Given the description of an element on the screen output the (x, y) to click on. 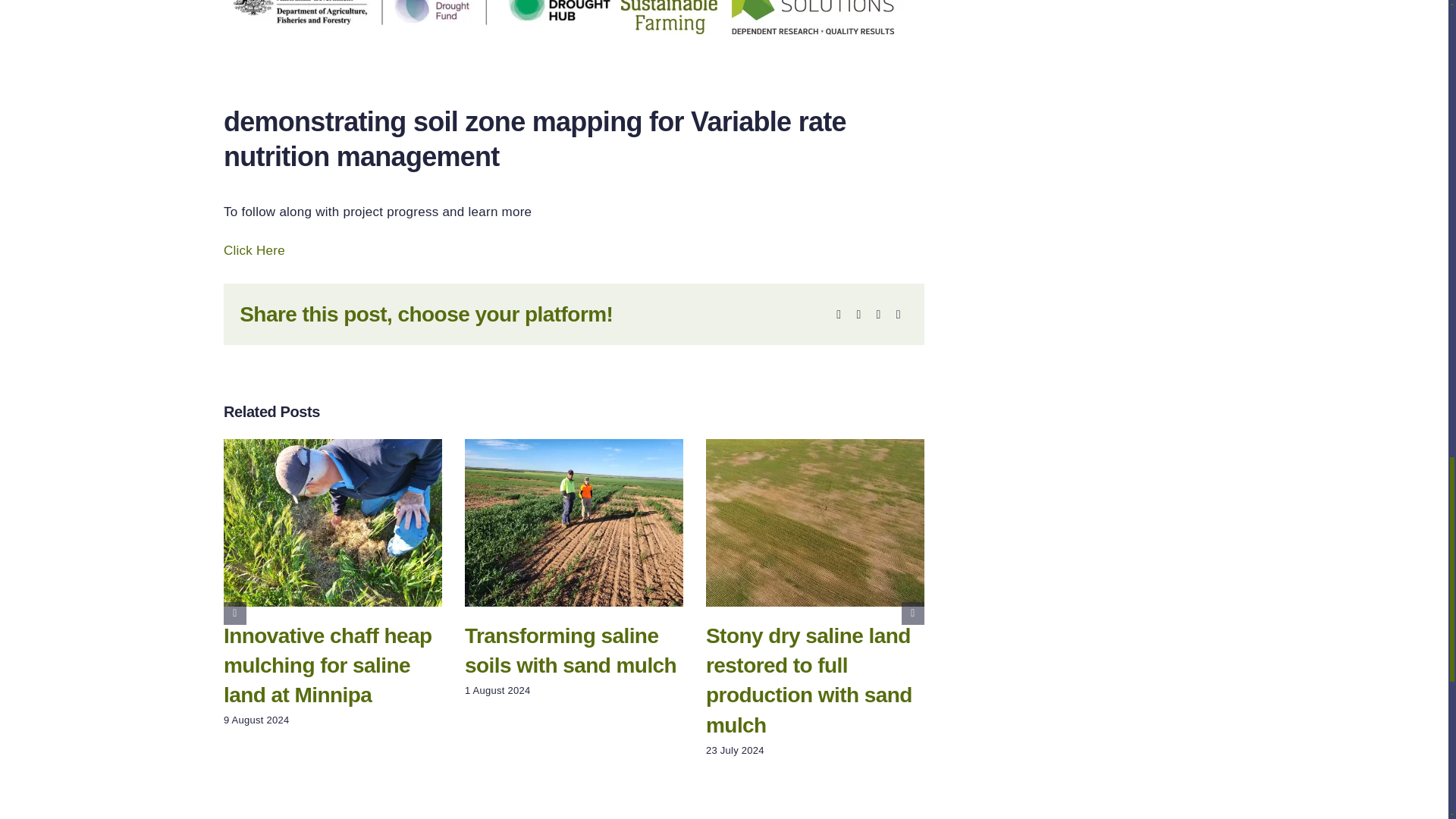
Innovative chaff heap mulching for saline land at Minnipa (328, 665)
Transforming saline soils with sand mulch (570, 650)
WhatsApp (878, 314)
X (857, 314)
Facebook (838, 314)
Email (898, 314)
